Given the description of an element on the screen output the (x, y) to click on. 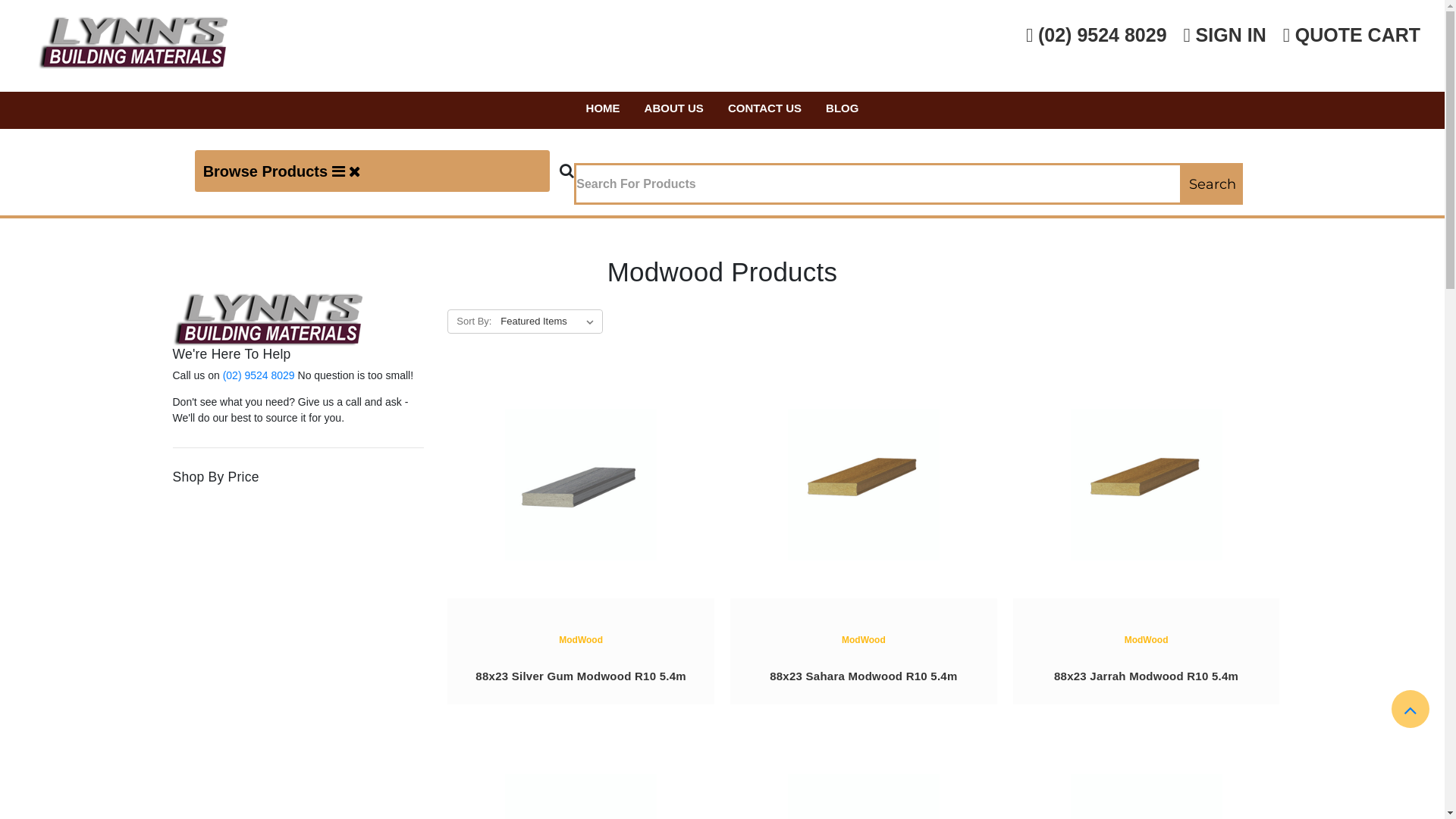
HOME Element type: text (603, 109)
CONTACT US Element type: text (764, 109)
SIGN IN Element type: text (1224, 35)
QUOTE CART Element type: text (1351, 35)
Browse Products Element type: text (371, 170)
88x23 Sahara Modwood R10 5.4m Element type: text (863, 675)
Lynn's Building Materials Element type: hover (267, 319)
(02) 9524 8029 Element type: text (258, 375)
Lynn's Building Materials Element type: hover (132, 42)
(02) 9524 8029 Element type: text (1096, 35)
Search Element type: text (1212, 183)
88x23 Silver Gum Modwood R10 5.4m Element type: text (580, 675)
BLOG Element type: text (841, 109)
ABOUT US Element type: text (673, 109)
88x23 Jarrah Modwood R10 5.4m Element type: text (1146, 675)
88x23 Sahara Modwood R10 5.4m Element type: hover (863, 484)
88x23 Silver Gum Modwood R10 5.4m Element type: hover (580, 484)
88x23 Jarrah Modwood R10 5.4m Element type: hover (1146, 484)
